Given the description of an element on the screen output the (x, y) to click on. 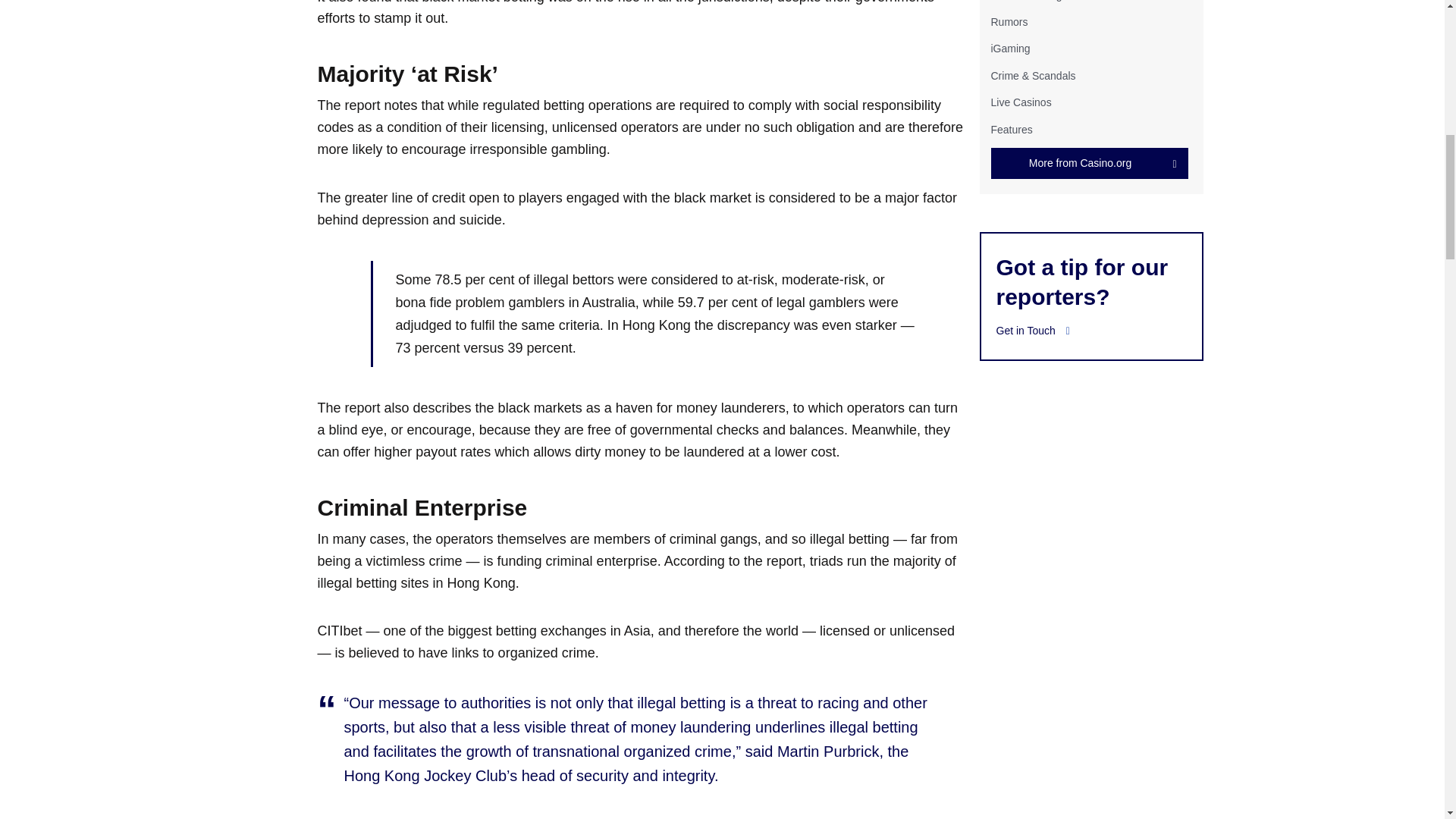
Live Casinos (1020, 102)
Mobile Gaming (1025, 0)
Rumors (1008, 21)
iGaming (1009, 48)
Features (1011, 128)
